Given the description of an element on the screen output the (x, y) to click on. 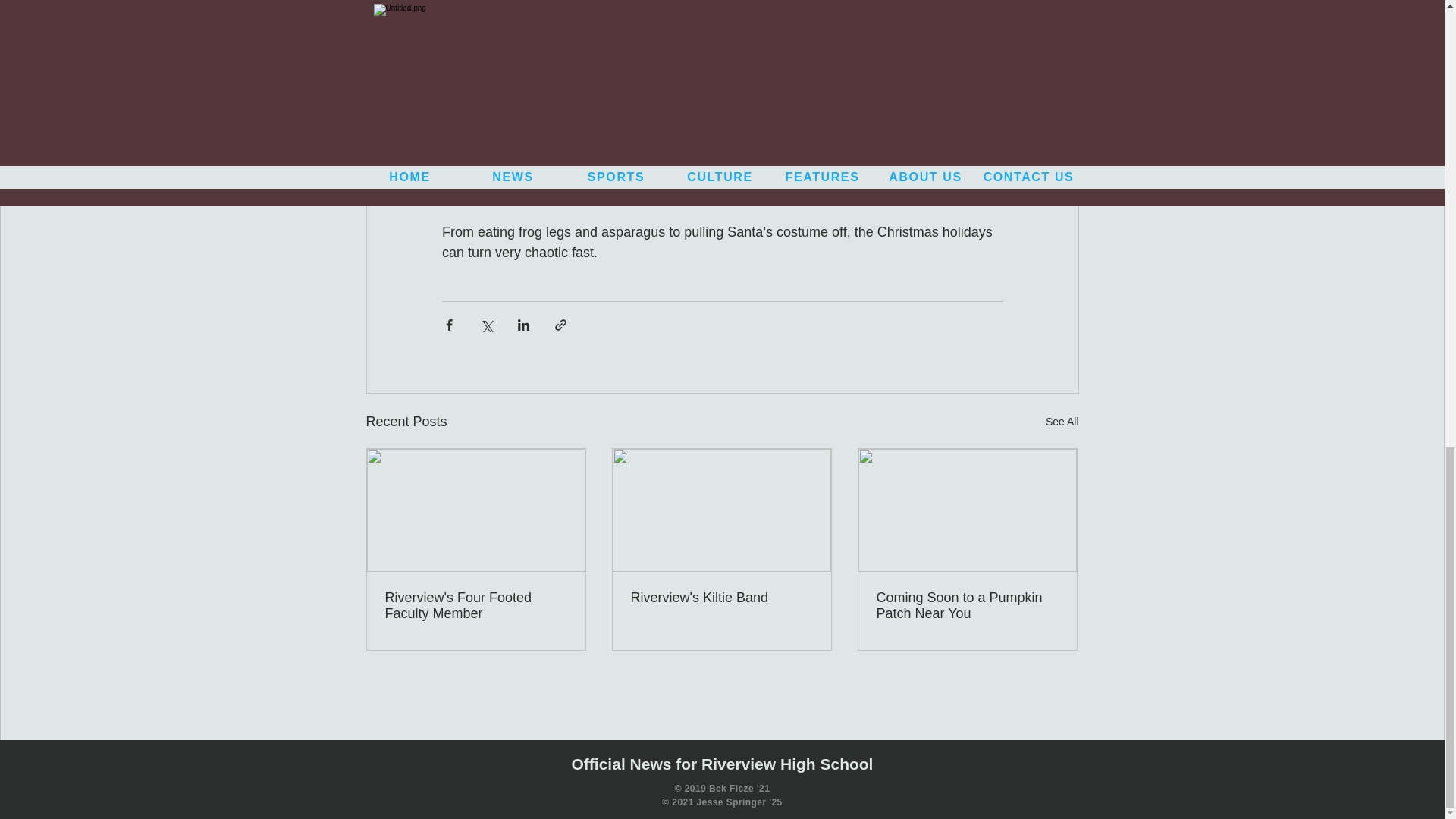
Coming Soon to a Pumpkin Patch Near You (967, 605)
See All (1061, 422)
Riverview's Kiltie Band (721, 597)
Riverview's Four Footed Faculty Member (476, 605)
